Given the description of an element on the screen output the (x, y) to click on. 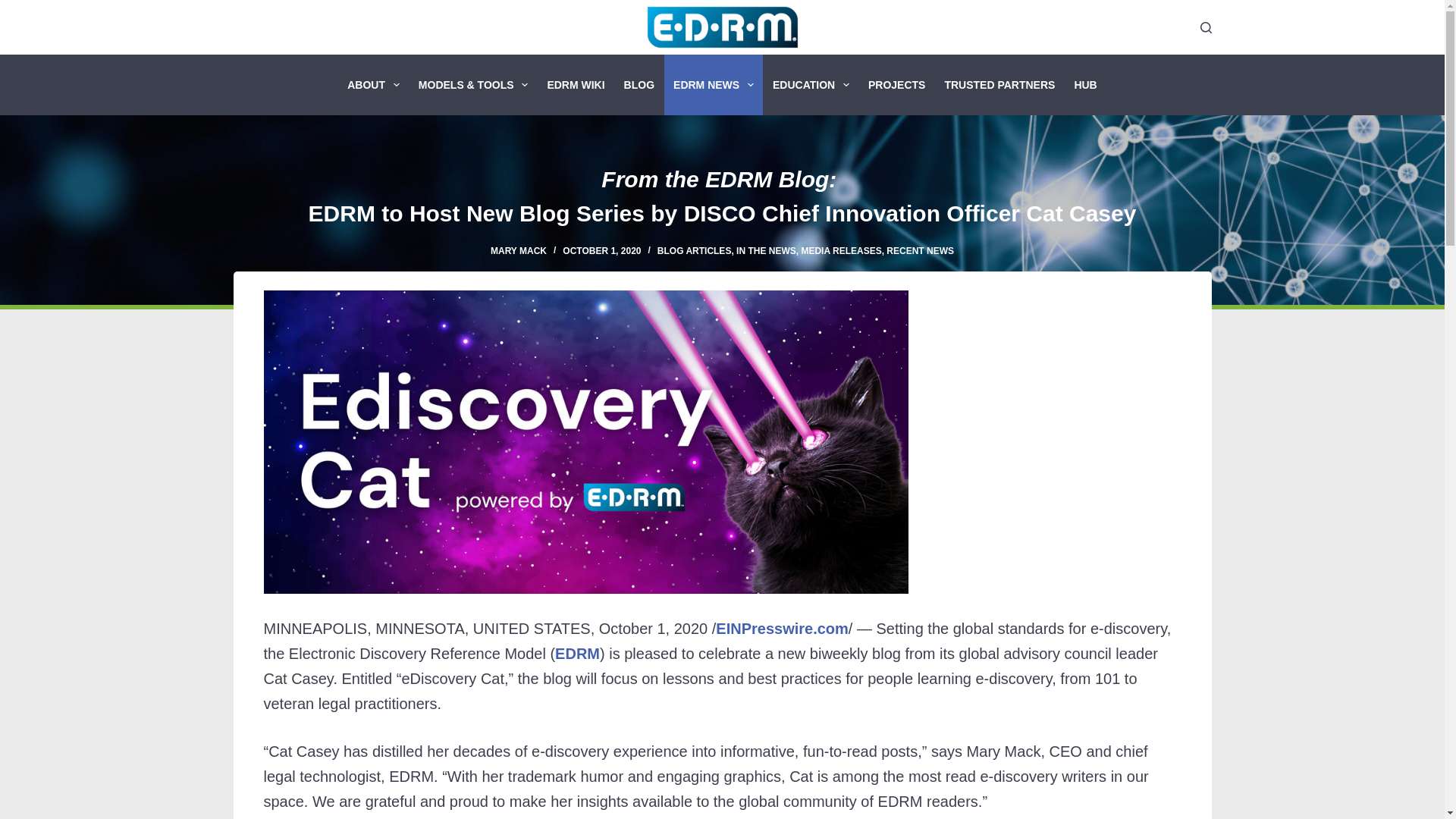
Skip to content (15, 7)
